Given the description of an element on the screen output the (x, y) to click on. 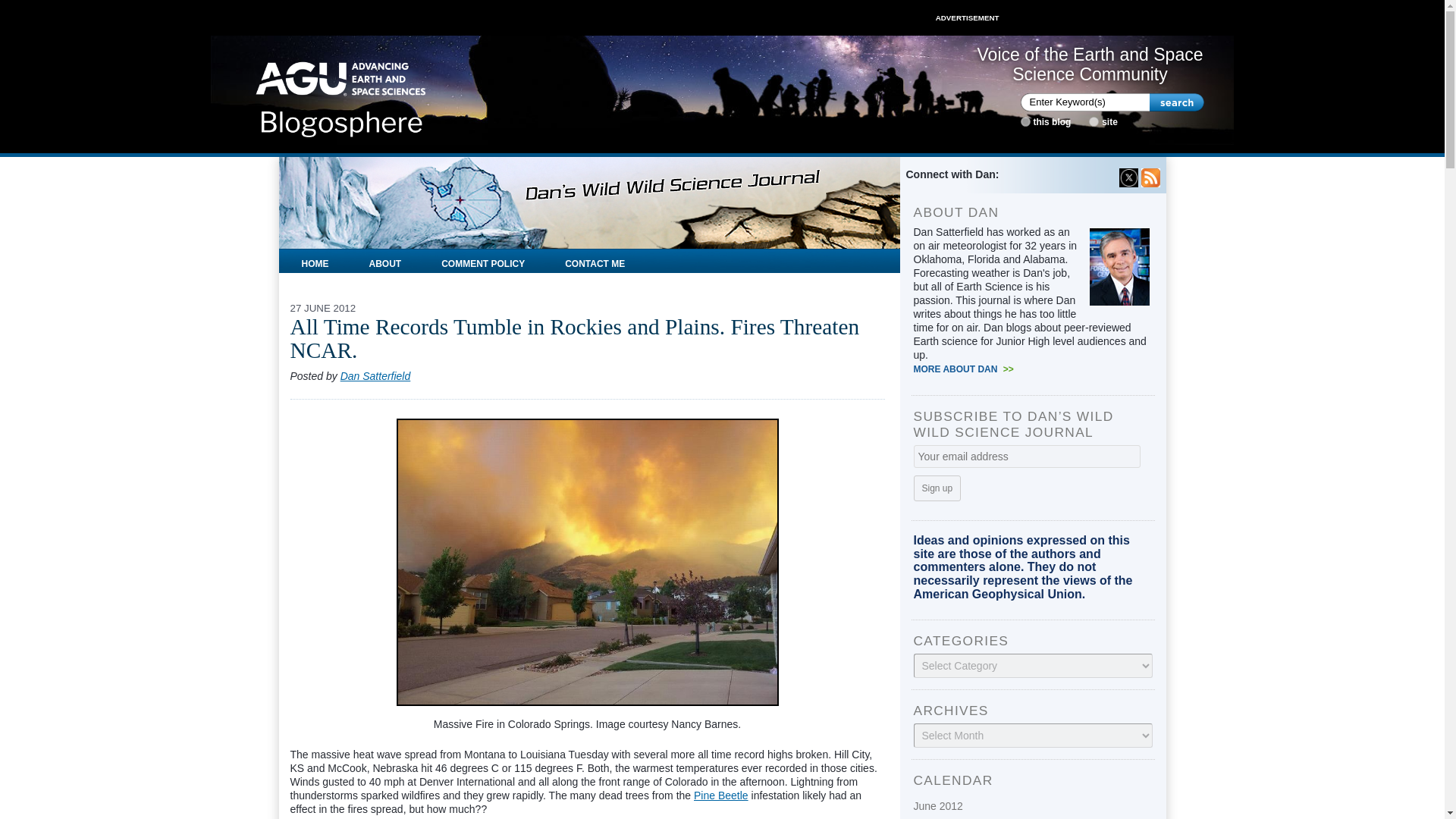
Sign up (936, 488)
ABOUT (385, 260)
Pine Beetle (721, 795)
Home (341, 94)
all (1094, 121)
blog (1025, 121)
COMMENT POLICY (482, 260)
CONTACT ME (594, 260)
HOME (314, 260)
Dan Satterfield (375, 376)
photo (586, 561)
